Given the description of an element on the screen output the (x, y) to click on. 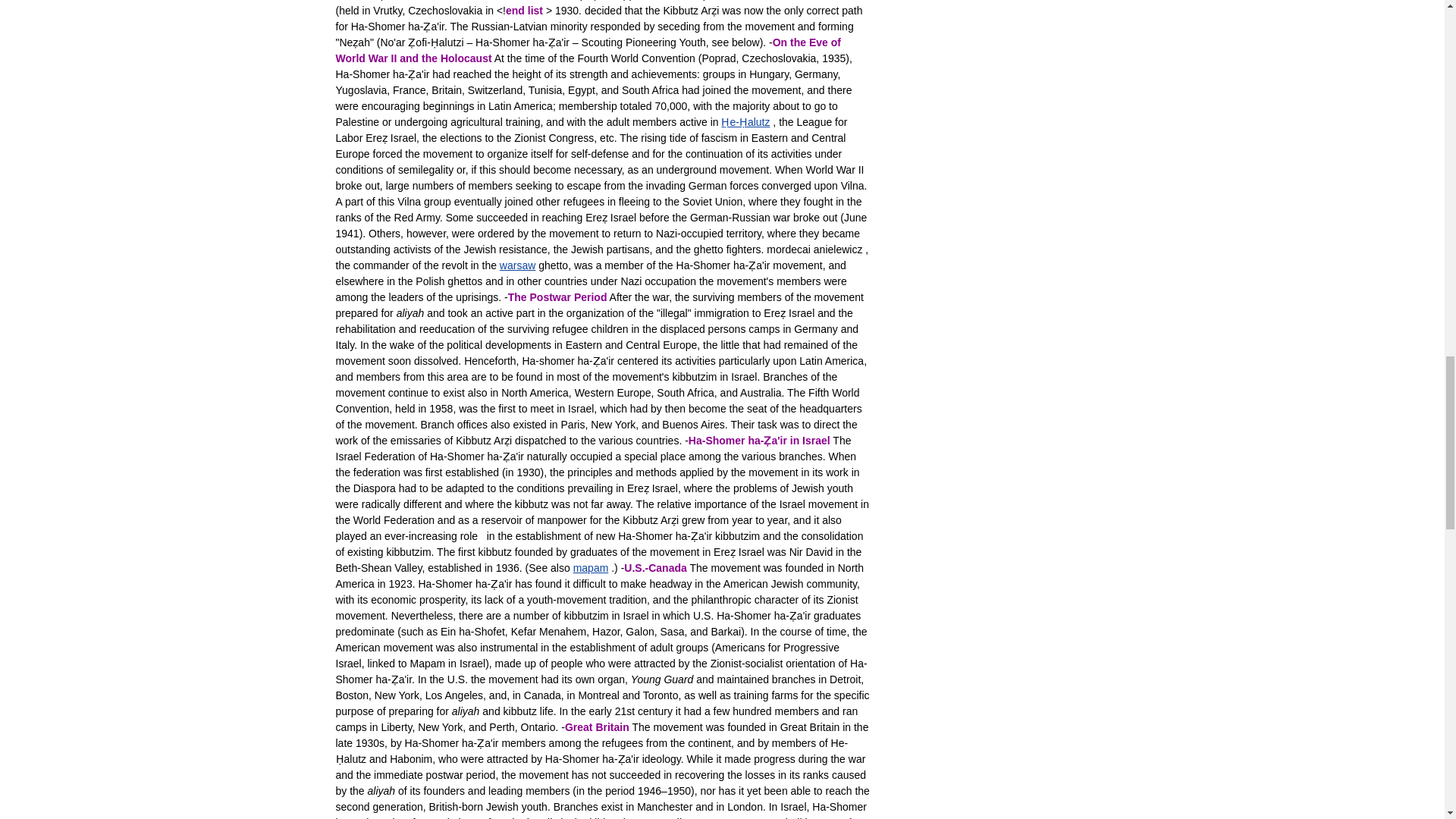
warsaw (517, 265)
mapam (590, 567)
